Given the description of an element on the screen output the (x, y) to click on. 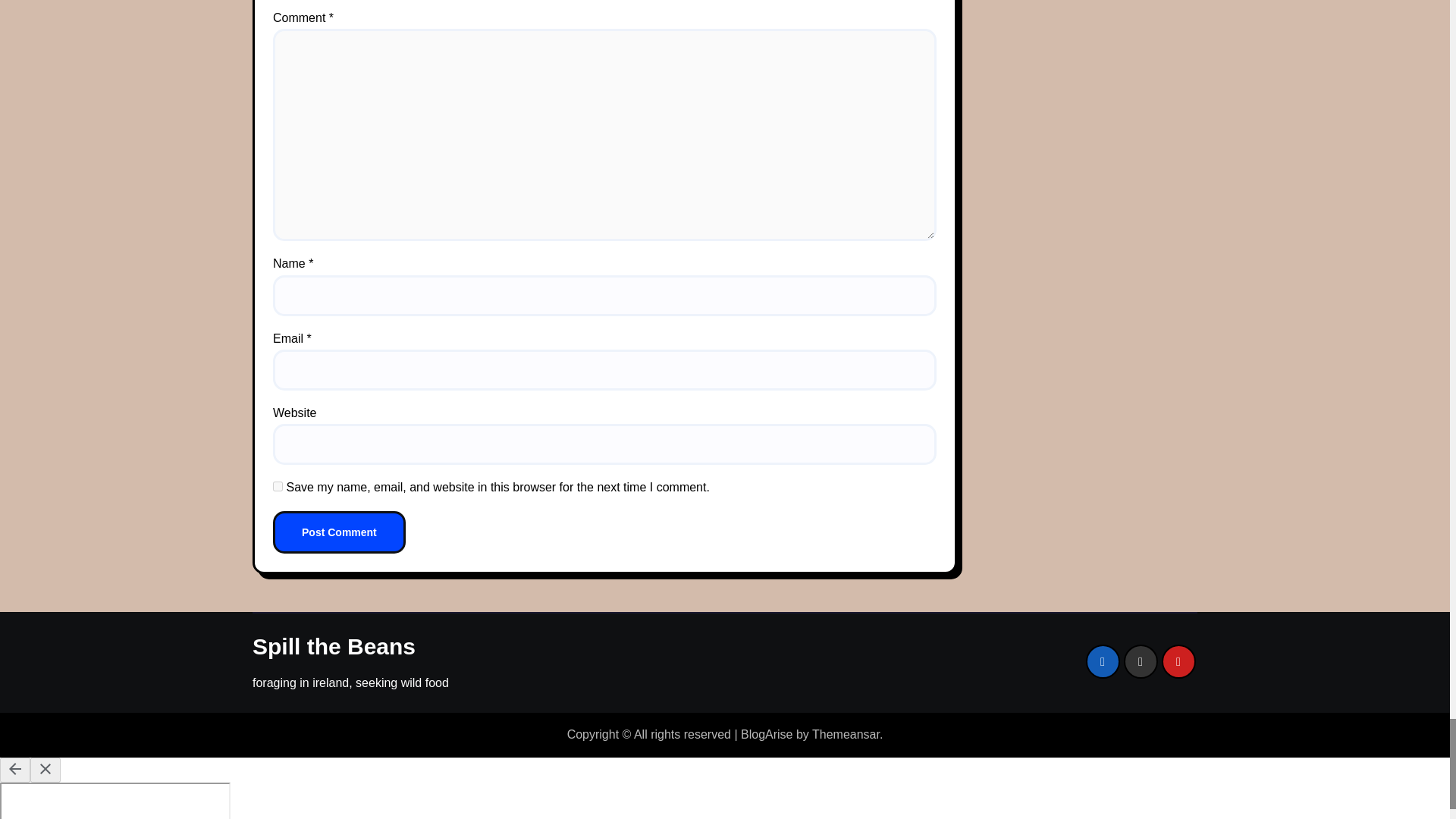
Post Comment (339, 532)
yes (277, 486)
